Given the description of an element on the screen output the (x, y) to click on. 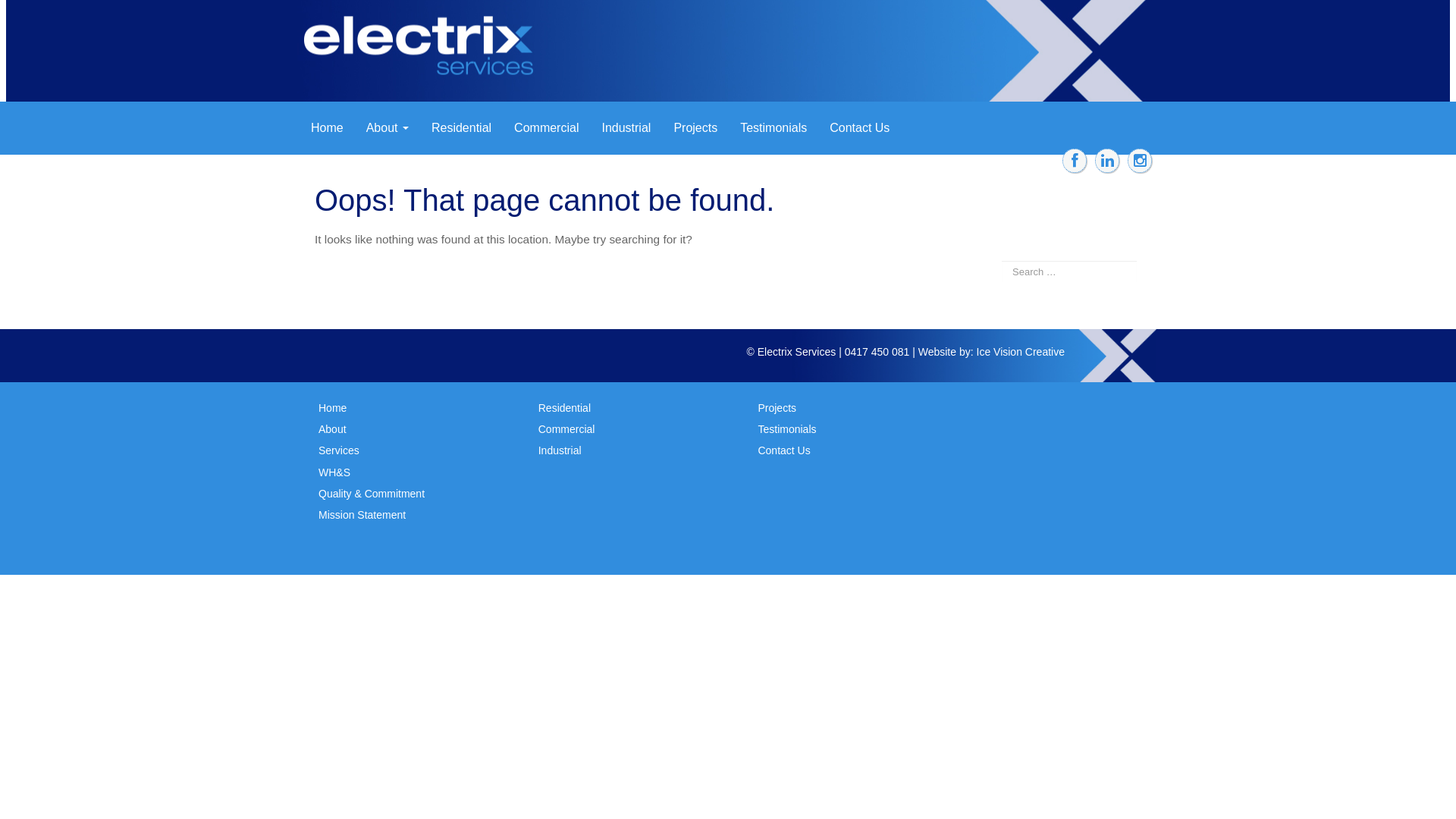
Testimonials Element type: text (773, 127)
Contact Us Element type: text (783, 450)
Ice Vision Creative Element type: text (1020, 351)
Home Element type: text (332, 407)
About Element type: text (387, 127)
Home Element type: text (326, 127)
Mission Statement Element type: text (361, 514)
Electrix Services Element type: text (424, 58)
Projects Element type: text (695, 127)
Quality & Commitment Element type: text (371, 493)
Electrix Services Facebook Element type: hover (1074, 160)
Projects Element type: text (776, 407)
Electrix Services Instagram Element type: hover (1139, 160)
About Element type: text (332, 429)
Commercial Element type: text (566, 429)
Residential Element type: text (461, 127)
Contact Us Element type: text (859, 127)
WH&S Element type: text (334, 472)
Testimonials Element type: text (786, 429)
Services Element type: text (338, 450)
Industrial Element type: text (559, 450)
Commercial Element type: text (545, 127)
Residential Element type: text (564, 407)
Industrial Element type: text (625, 127)
Electrix Services Linkedin Element type: hover (1107, 160)
